Given the description of an element on the screen output the (x, y) to click on. 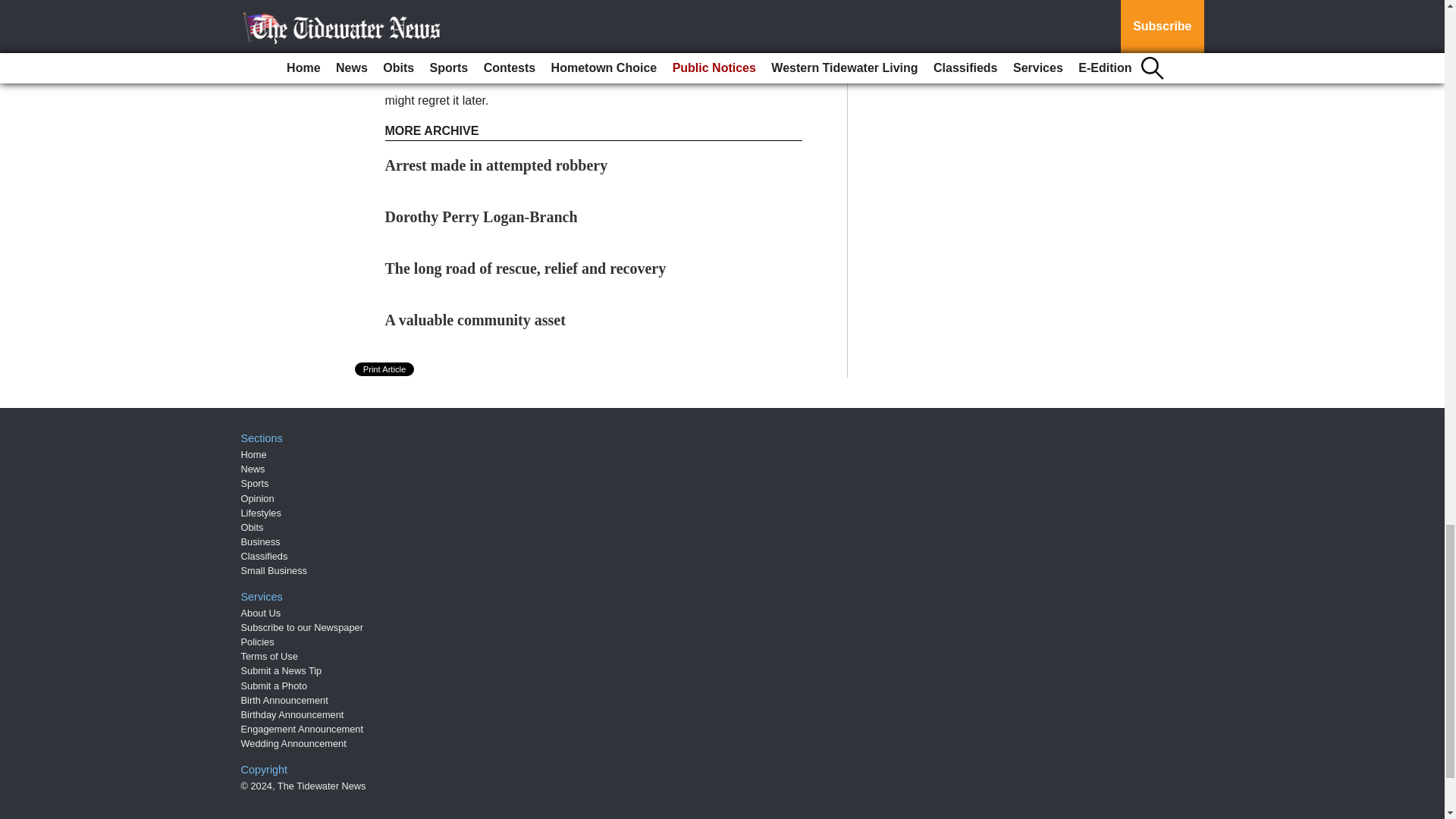
Arrest made in attempted robbery (496, 165)
The long road of rescue, relief and recovery (525, 268)
The long road of rescue, relief and recovery (525, 268)
Print Article (384, 368)
A valuable community asset (475, 320)
Dorothy Perry Logan-Branch (481, 216)
Dorothy Perry Logan-Branch (481, 216)
Arrest made in attempted robbery (496, 165)
A valuable community asset (475, 320)
